Given the description of an element on the screen output the (x, y) to click on. 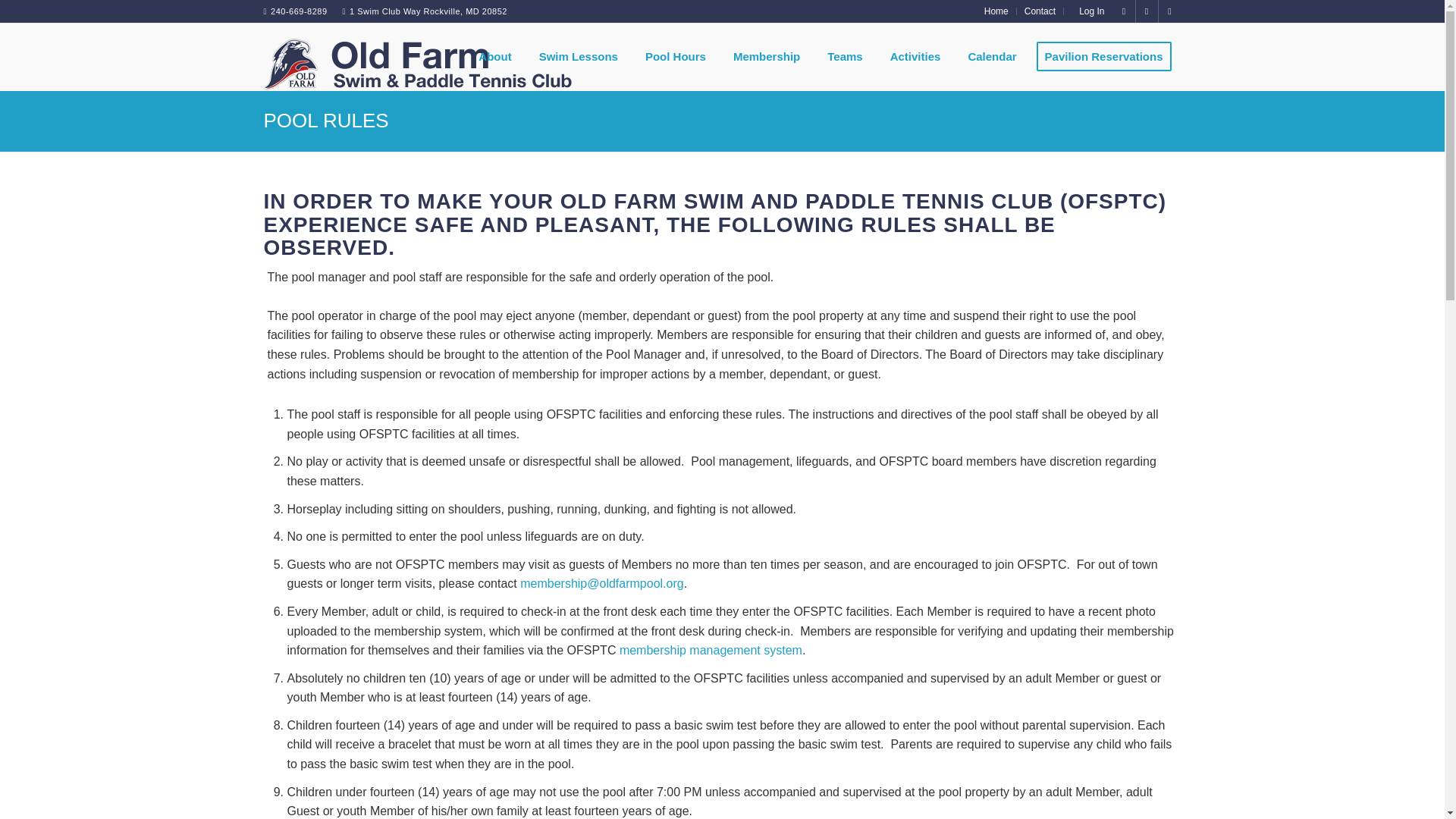
Contact (1040, 11)
logo-bl (417, 56)
Swim Lessons (574, 56)
Teams (840, 56)
X (1169, 11)
Instagram (1146, 11)
logo-bl (417, 64)
Facebook (1124, 11)
Membership (762, 56)
Activities (911, 56)
